Given the description of an element on the screen output the (x, y) to click on. 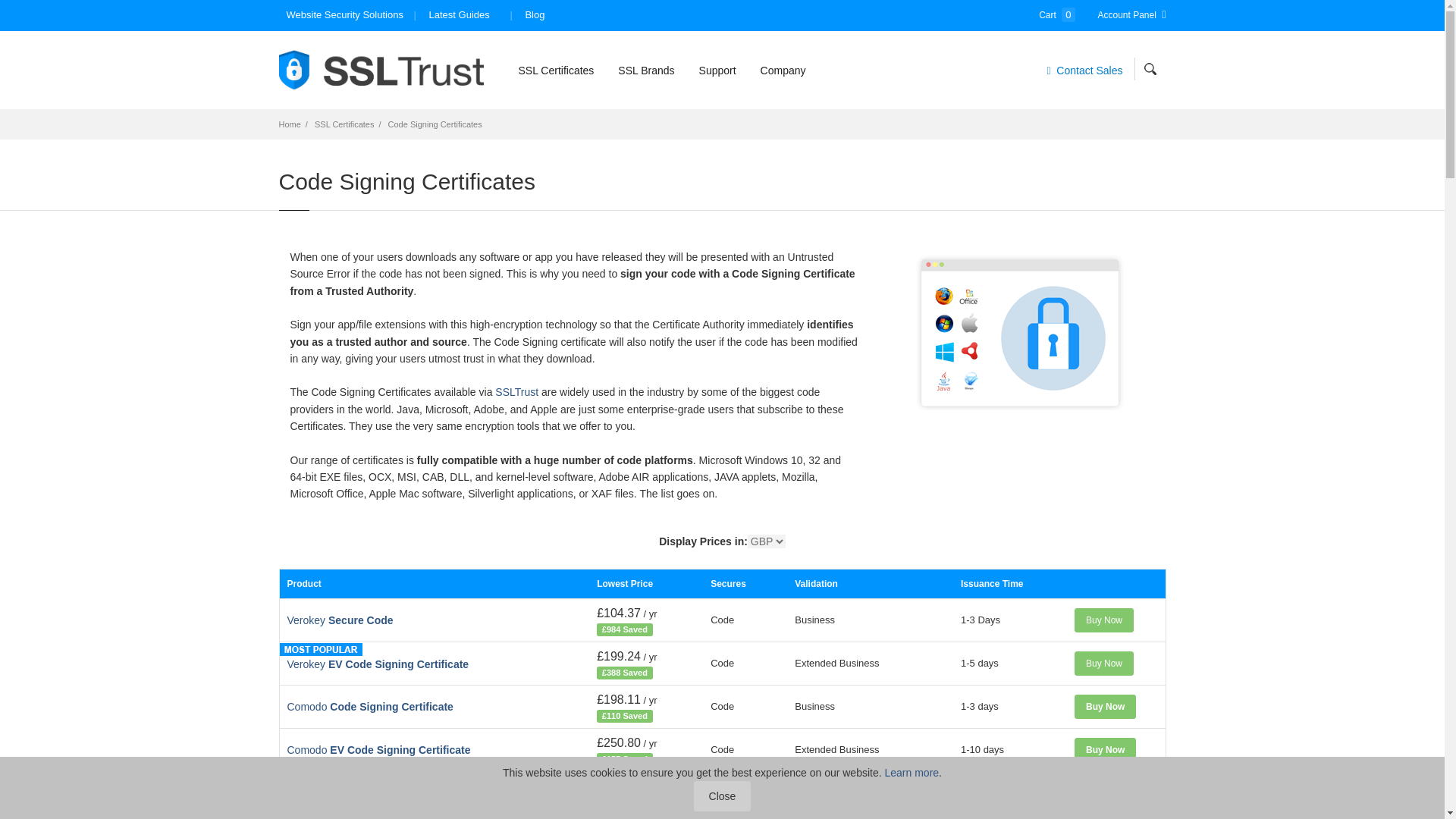
Extended Validation Code Signing Certificate (377, 664)
Support (716, 70)
Company (783, 70)
Home (290, 123)
Account Panel (1131, 15)
SSL Certificates (556, 70)
SSL Certificates and Website Security Solutions (381, 70)
Blog (534, 15)
Secure Code Signing Certificate (339, 620)
SSLTrust Support Centre (716, 70)
